Given the description of an element on the screen output the (x, y) to click on. 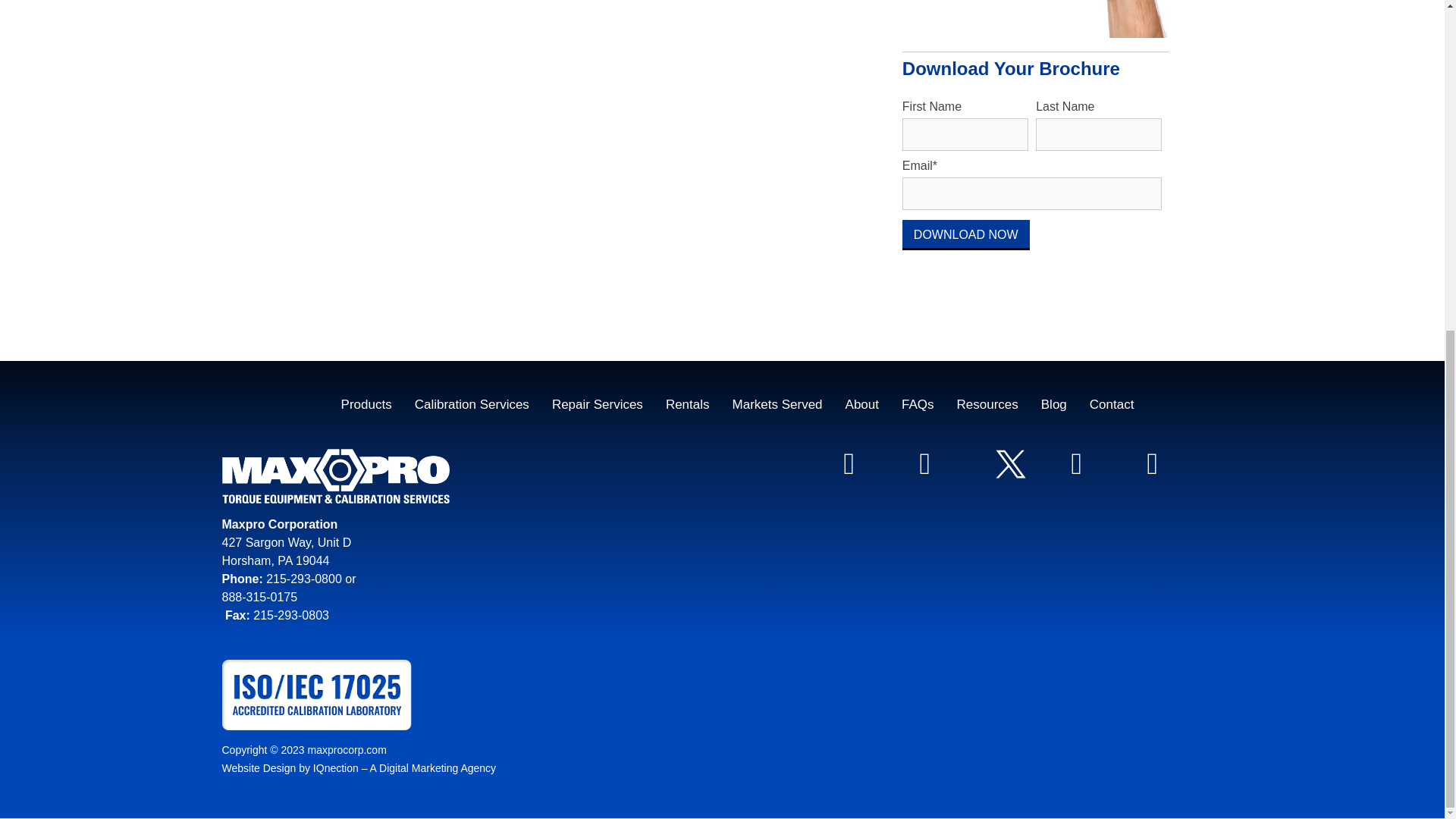
Image for Landing Page (1036, 18)
DOWNLOAD NOW (965, 235)
